Given the description of an element on the screen output the (x, y) to click on. 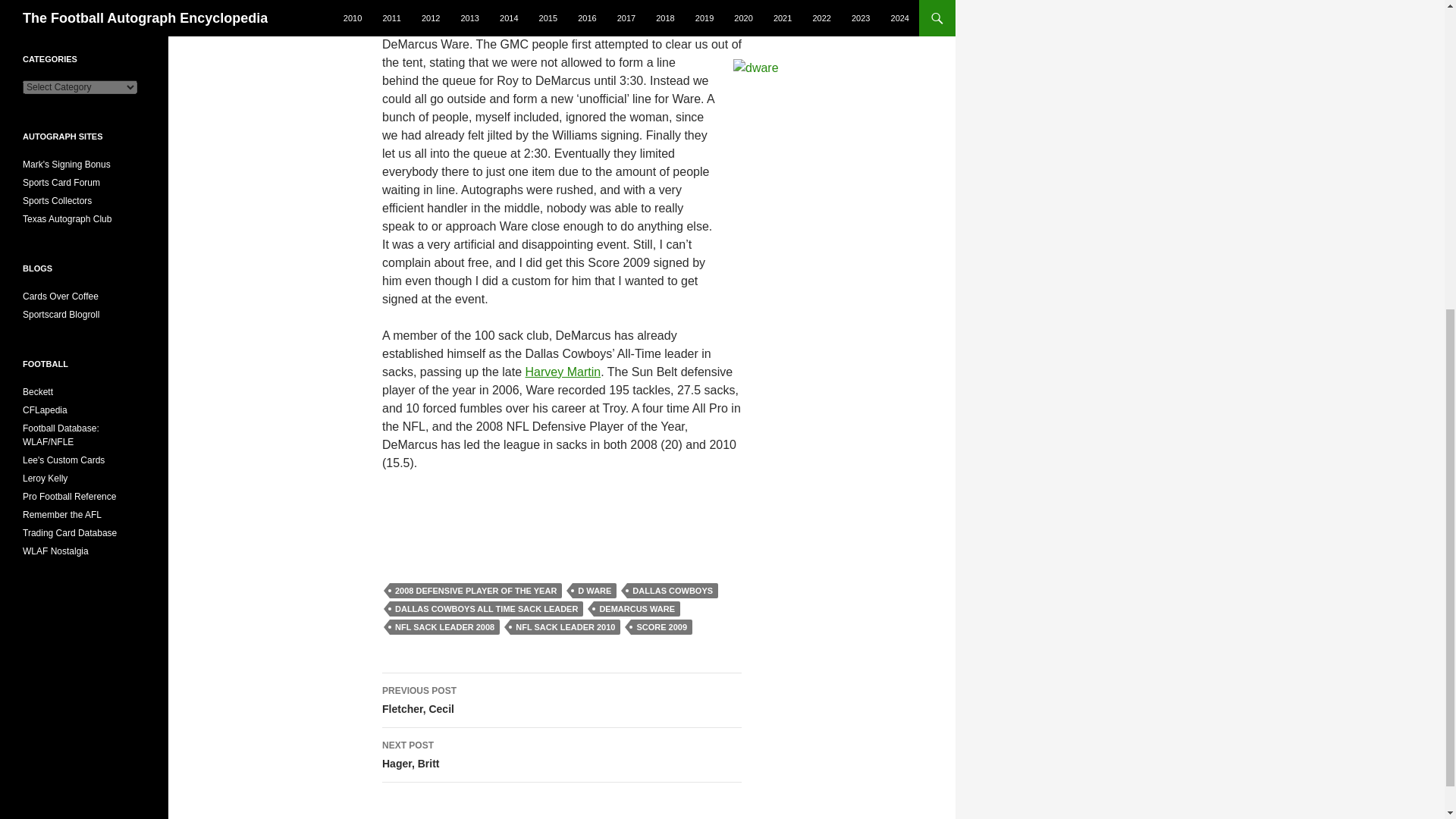
NFL SACK LEADER 2008 (444, 626)
My custom football card account (63, 460)
An encyclopedia of the CFL (44, 409)
trading card store (37, 391)
A daily blog about the world of trading cards (61, 296)
great site to help supplement autograph collecting (57, 200)
2008 DEFENSIVE PLAYER OF THE YEAR (476, 590)
